Given the description of an element on the screen output the (x, y) to click on. 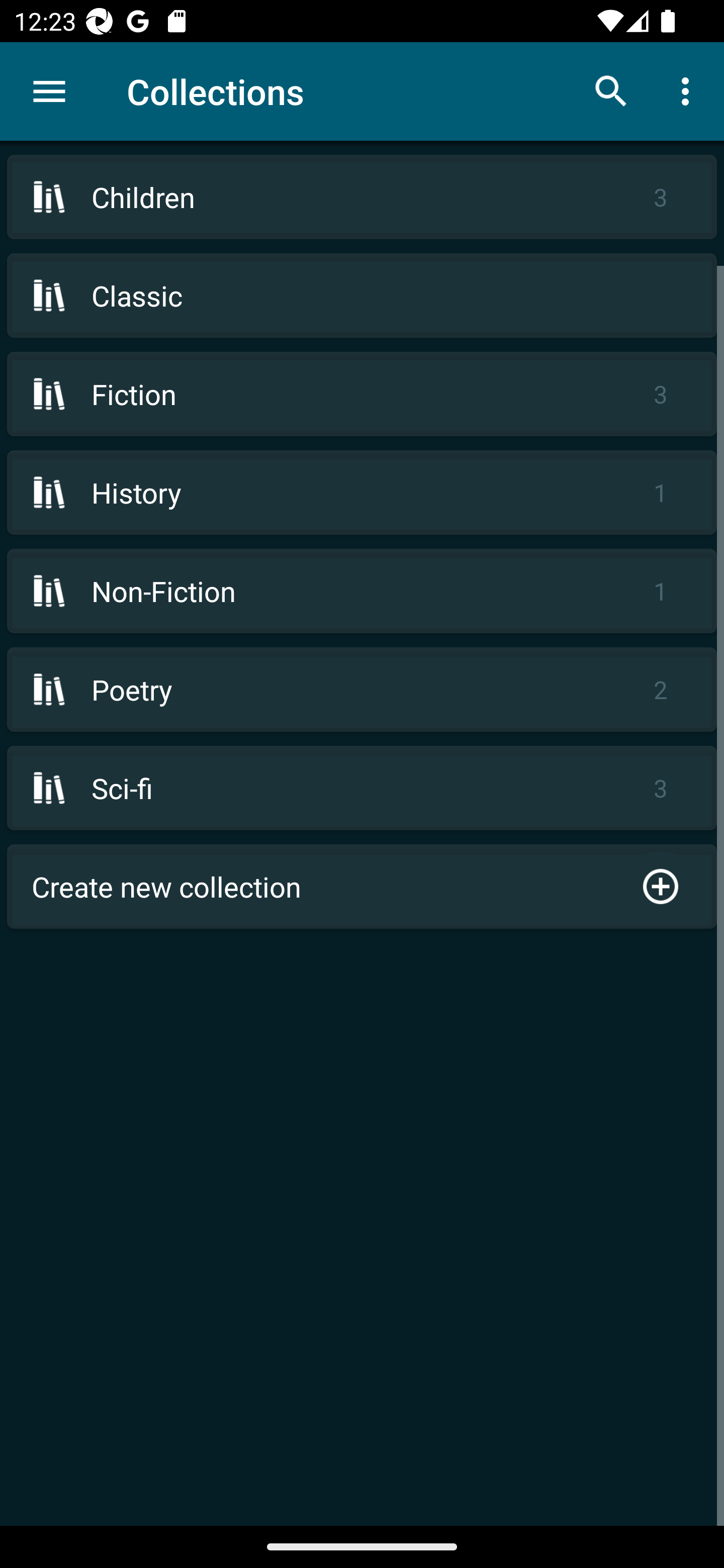
Menu (49, 91)
Search books & documents (611, 90)
More options (688, 90)
Children 3 (361, 197)
Classic (361, 295)
Fiction 3 (361, 393)
History 1 (361, 492)
Non-Fiction 1 (361, 590)
Poetry 2 (361, 689)
Sci-fi 3 (361, 787)
Create new collection (361, 885)
